Given the description of an element on the screen output the (x, y) to click on. 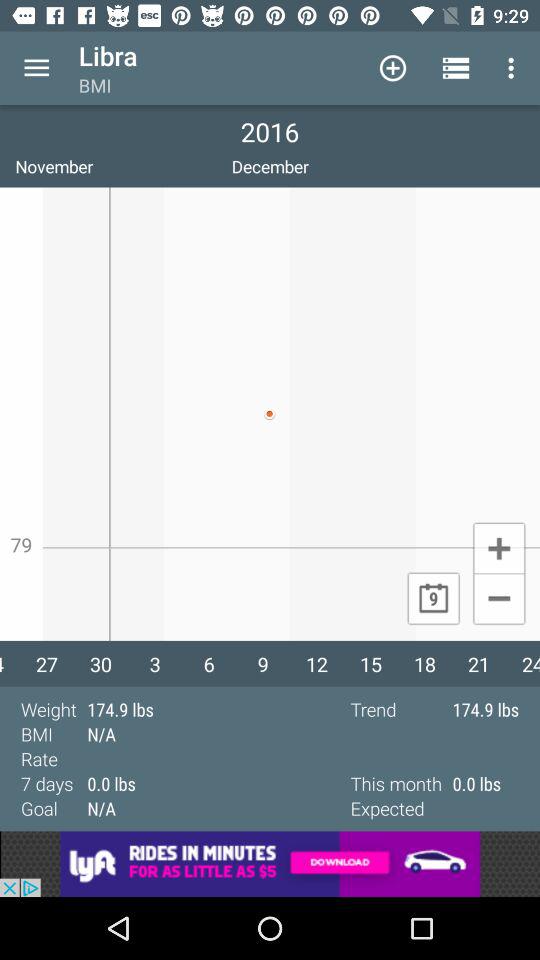
open options (36, 68)
